Given the description of an element on the screen output the (x, y) to click on. 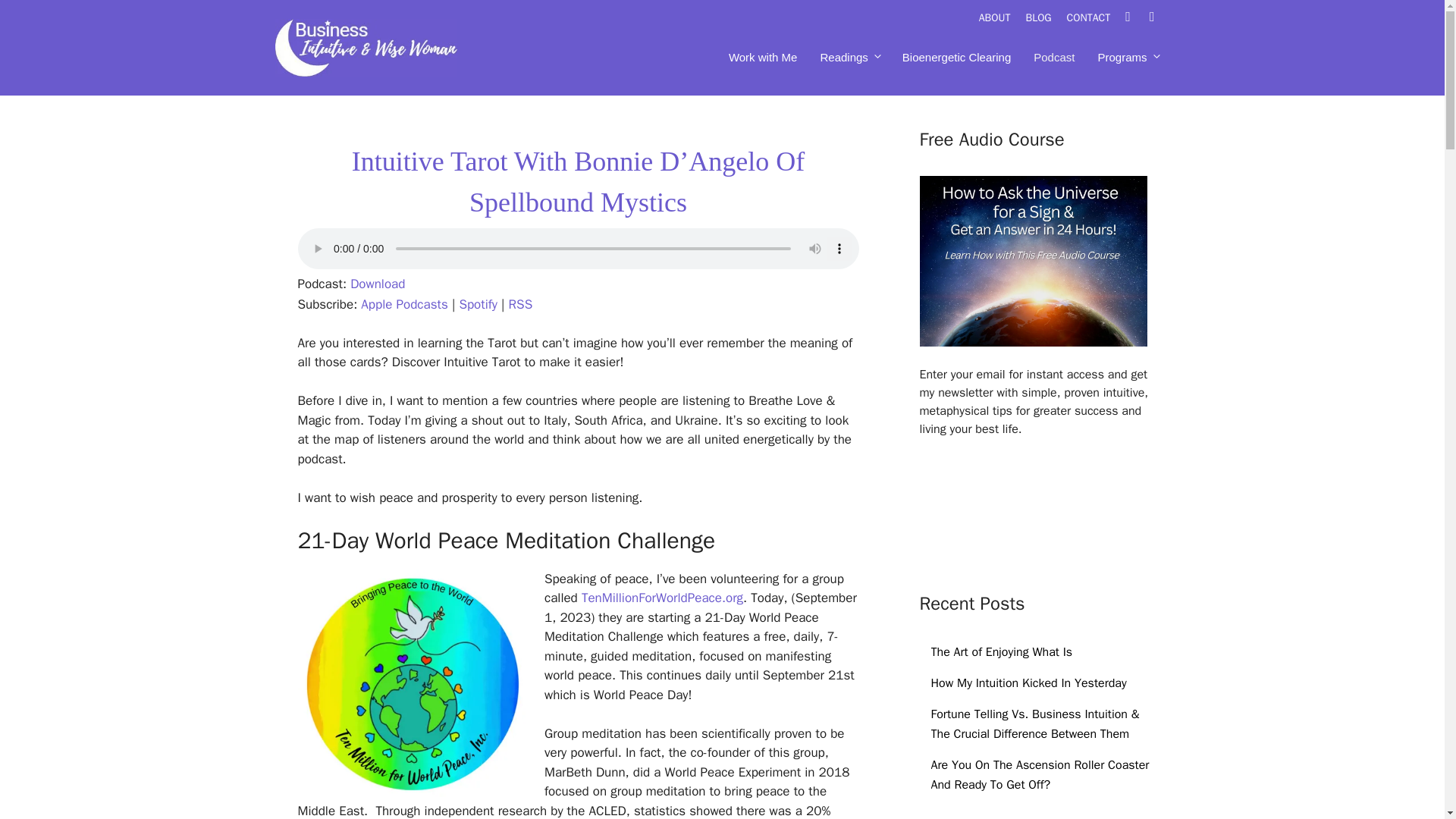
Work with Me (763, 57)
Programs (1127, 57)
Spotify (477, 304)
Apple Podcasts (403, 304)
BLOG (1045, 17)
TenMillionForWorldPeace.org (661, 597)
Podcast (1054, 57)
Subscribe on Spotify (477, 304)
Subscribe via RSS (520, 304)
Bioenergetic Clearing (956, 57)
Download (377, 283)
Readings (848, 57)
Download (377, 283)
CONTACT (1096, 17)
Subscribe on Apple Podcasts (403, 304)
